Given the description of an element on the screen output the (x, y) to click on. 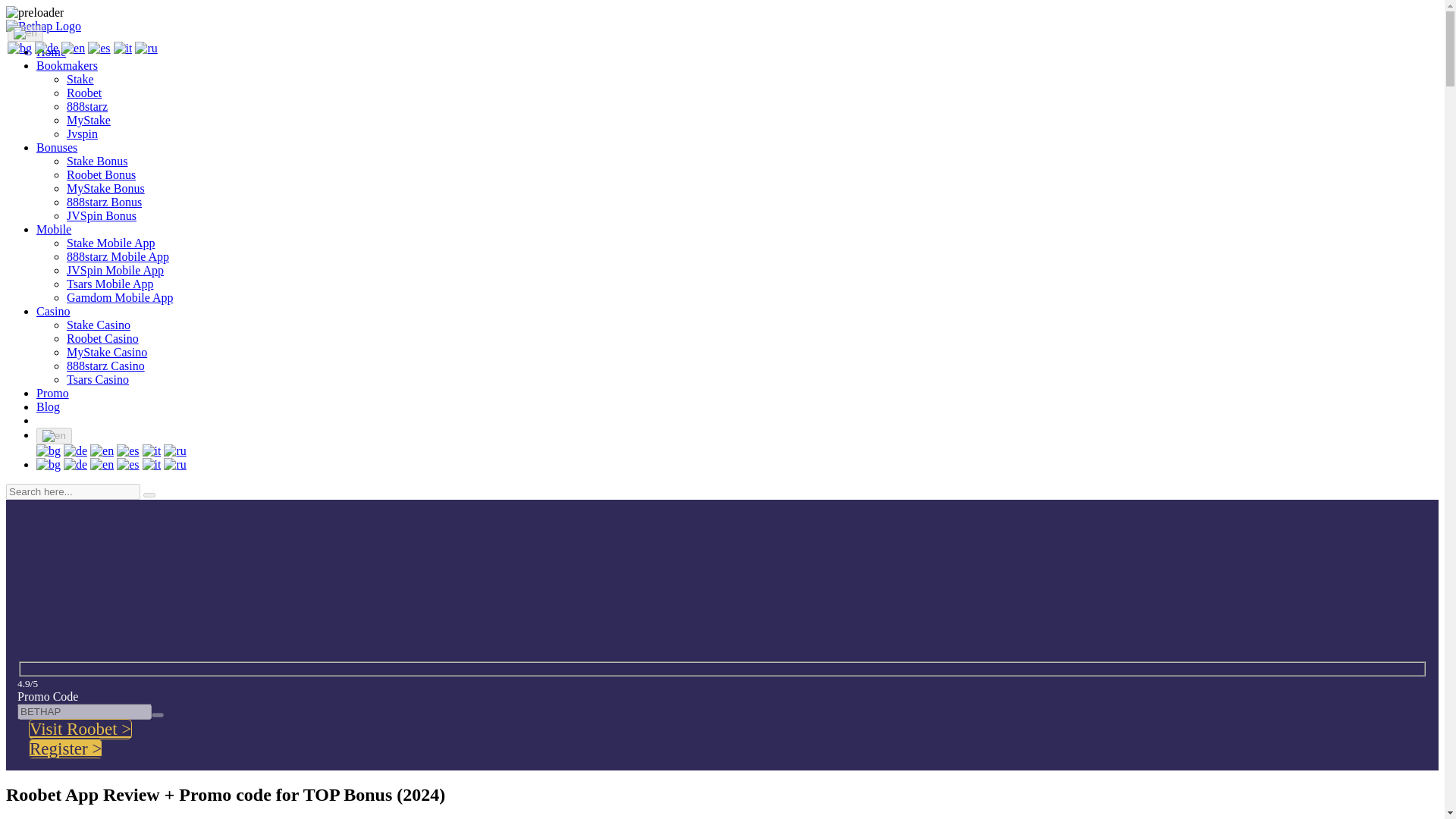
MyStake Casino (106, 351)
Stake (80, 78)
Gamdom Mobile App (119, 297)
JVSpin Mobile App (114, 269)
MyStake Bonus (105, 187)
Bonuses (56, 146)
Stake Casino (98, 324)
Casino (52, 310)
888starz (86, 106)
888starz Bonus (103, 201)
